Given the description of an element on the screen output the (x, y) to click on. 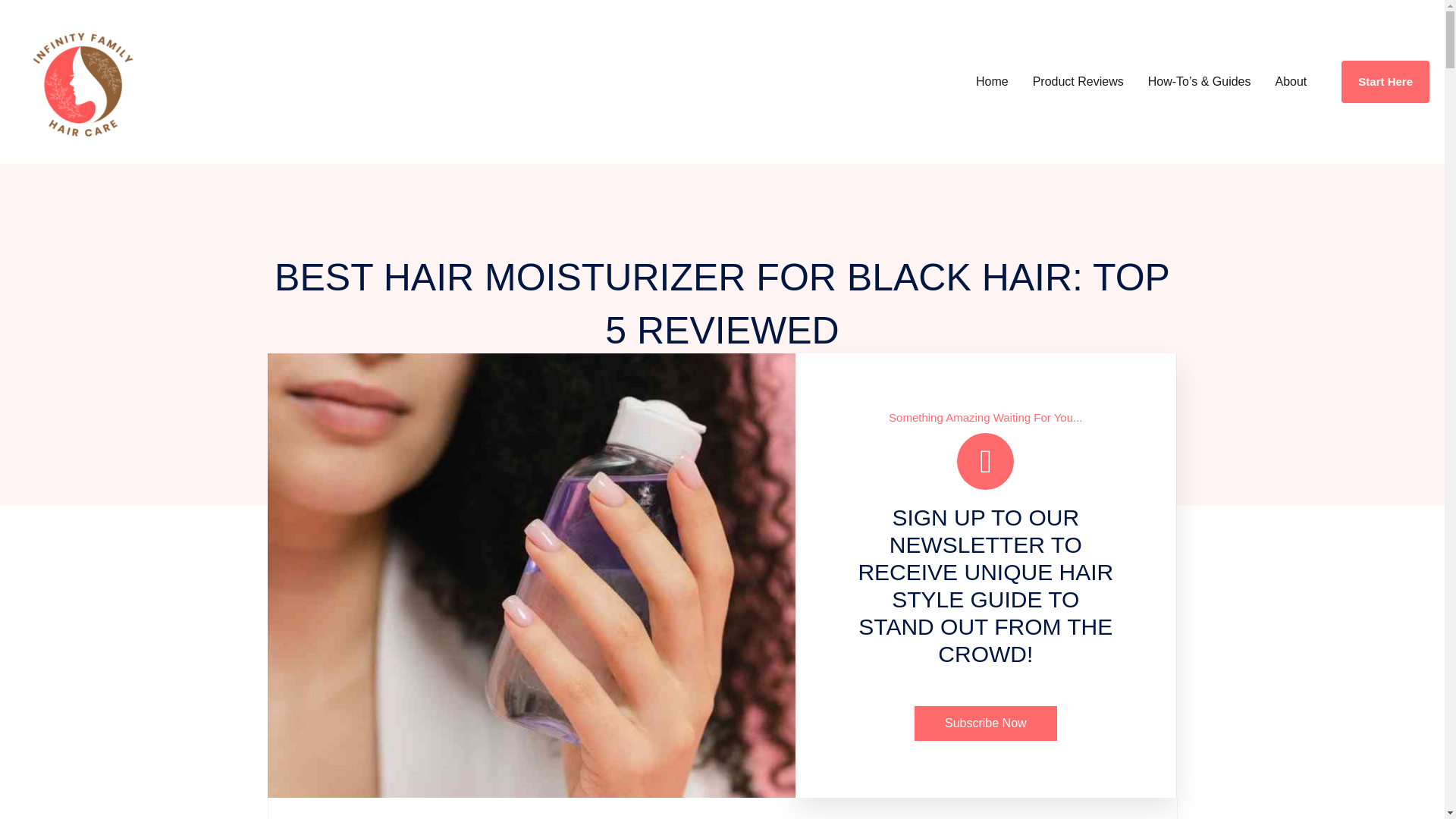
Subscribe Now (985, 723)
Start Here (1384, 81)
Home (991, 81)
About (1290, 81)
Product Reviews (1077, 81)
